Given the description of an element on the screen output the (x, y) to click on. 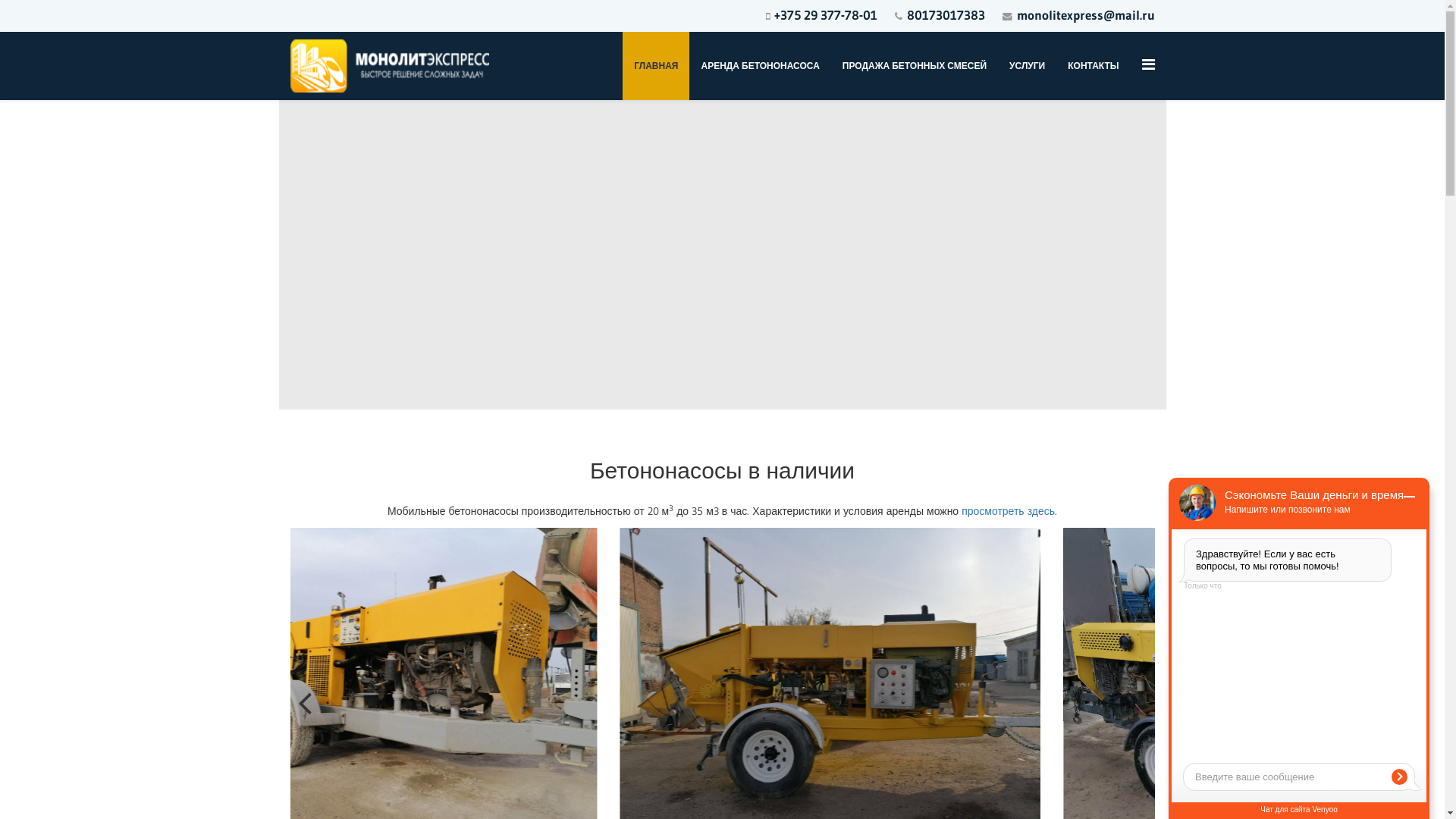
Menu Element type: hover (1148, 64)
80173017383 Element type: text (945, 14)
monolitexpress@mail.ru Element type: text (1085, 14)
+375 29 377-78-01 Element type: text (824, 14)
